Given the description of an element on the screen output the (x, y) to click on. 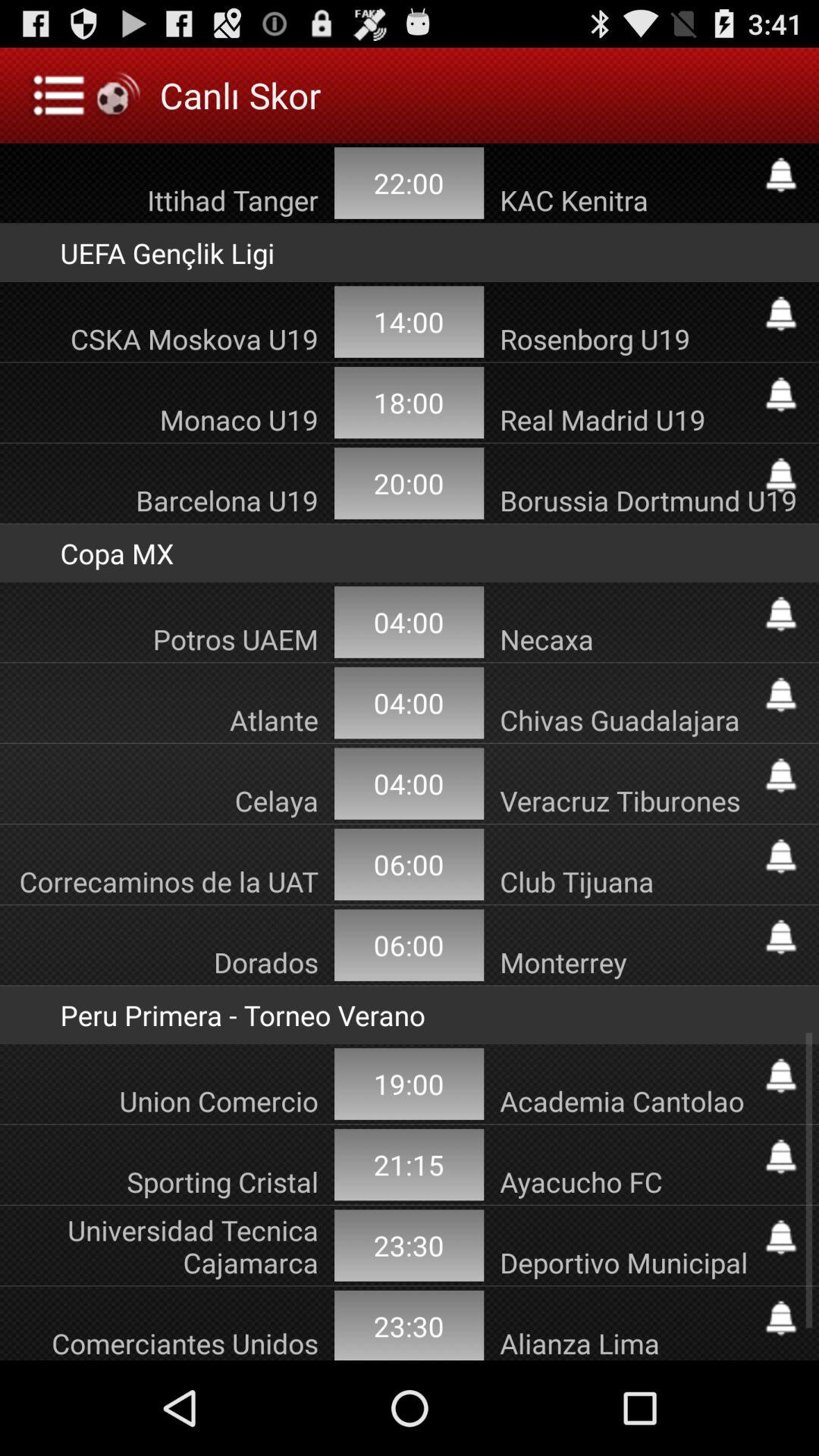
notification option (780, 394)
